Given the description of an element on the screen output the (x, y) to click on. 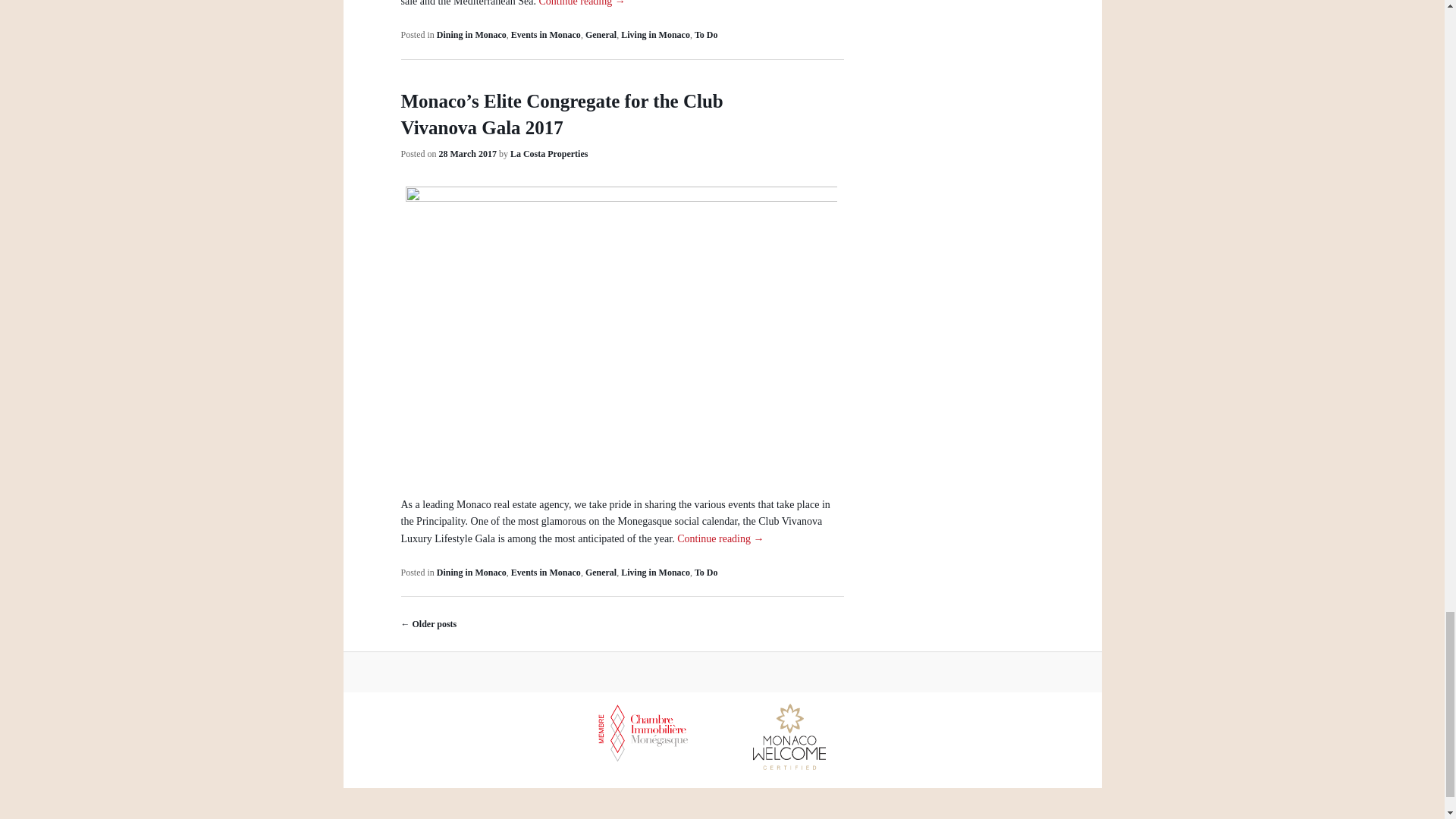
Dining in Monaco (471, 34)
Events in Monaco (545, 34)
View all posts by La Costa Properties (549, 153)
11 h 00 min (467, 153)
Monte Carlo property for sale (620, 3)
